Given the description of an element on the screen output the (x, y) to click on. 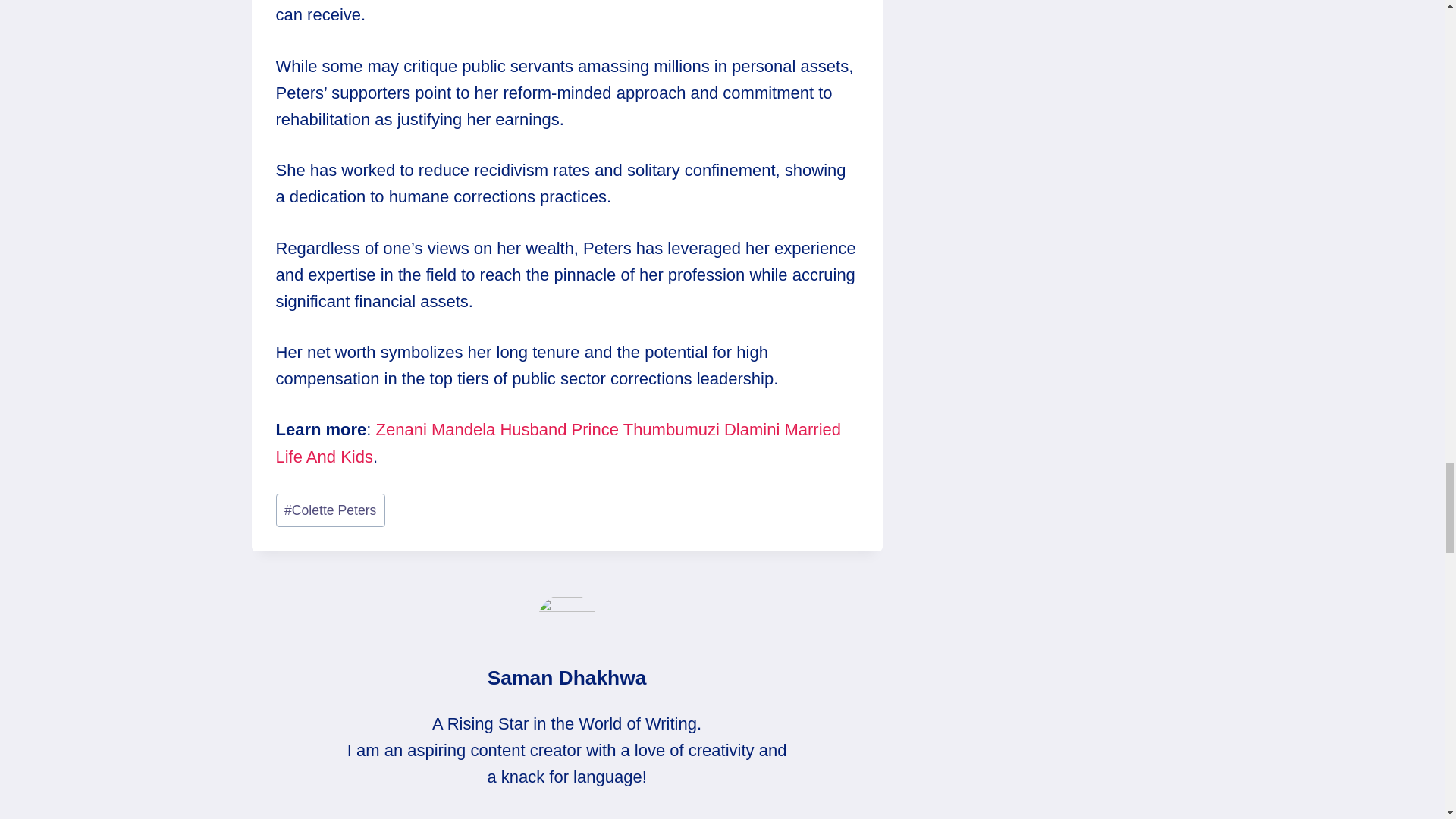
Colette Peters (330, 510)
Posts by Saman Dhakhwa (566, 677)
Saman Dhakhwa (566, 677)
